Given the description of an element on the screen output the (x, y) to click on. 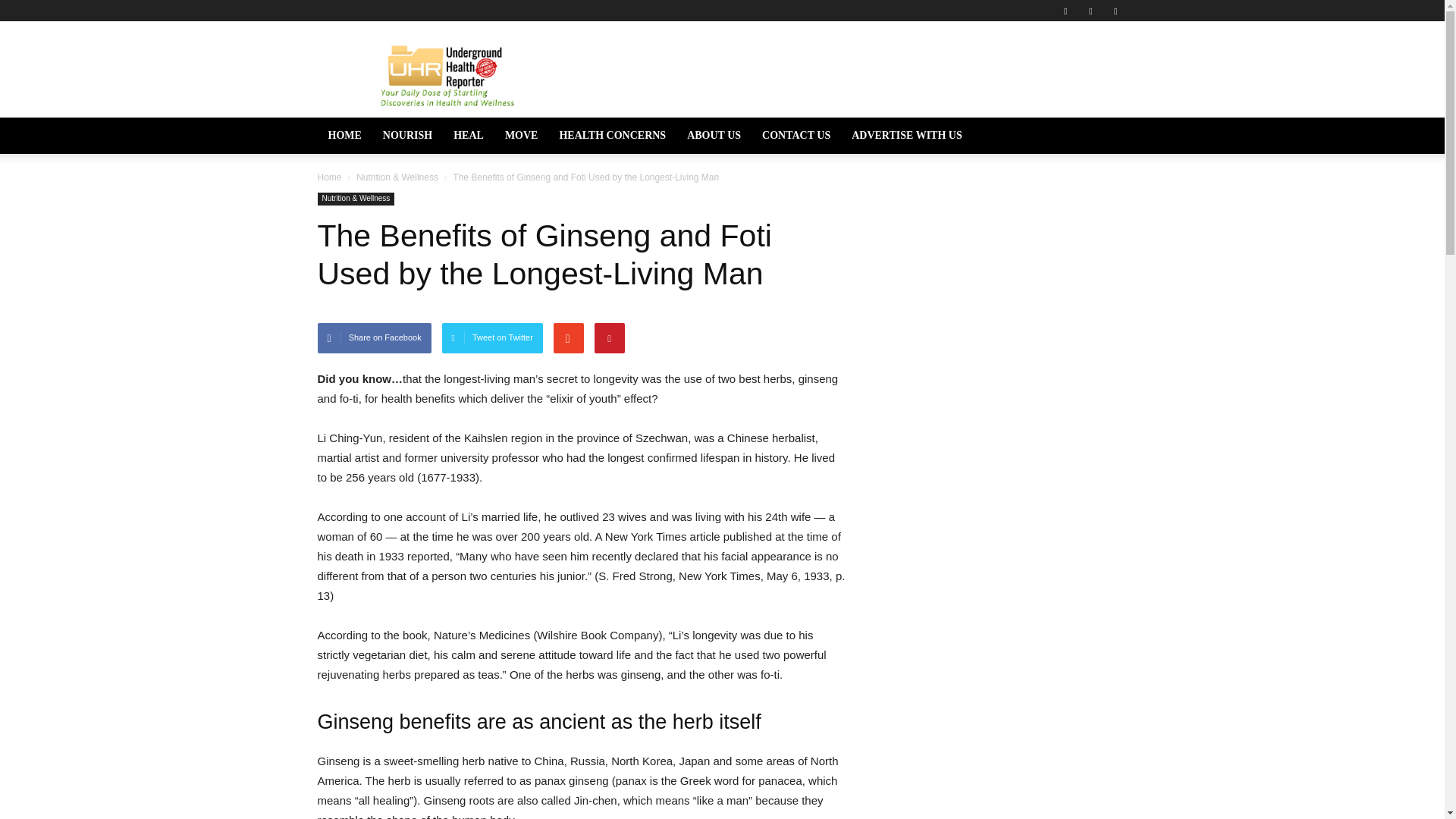
Advertisement (850, 76)
Facebook (1065, 10)
Instagram (1090, 10)
Youtube (1114, 10)
